Given the description of an element on the screen output the (x, y) to click on. 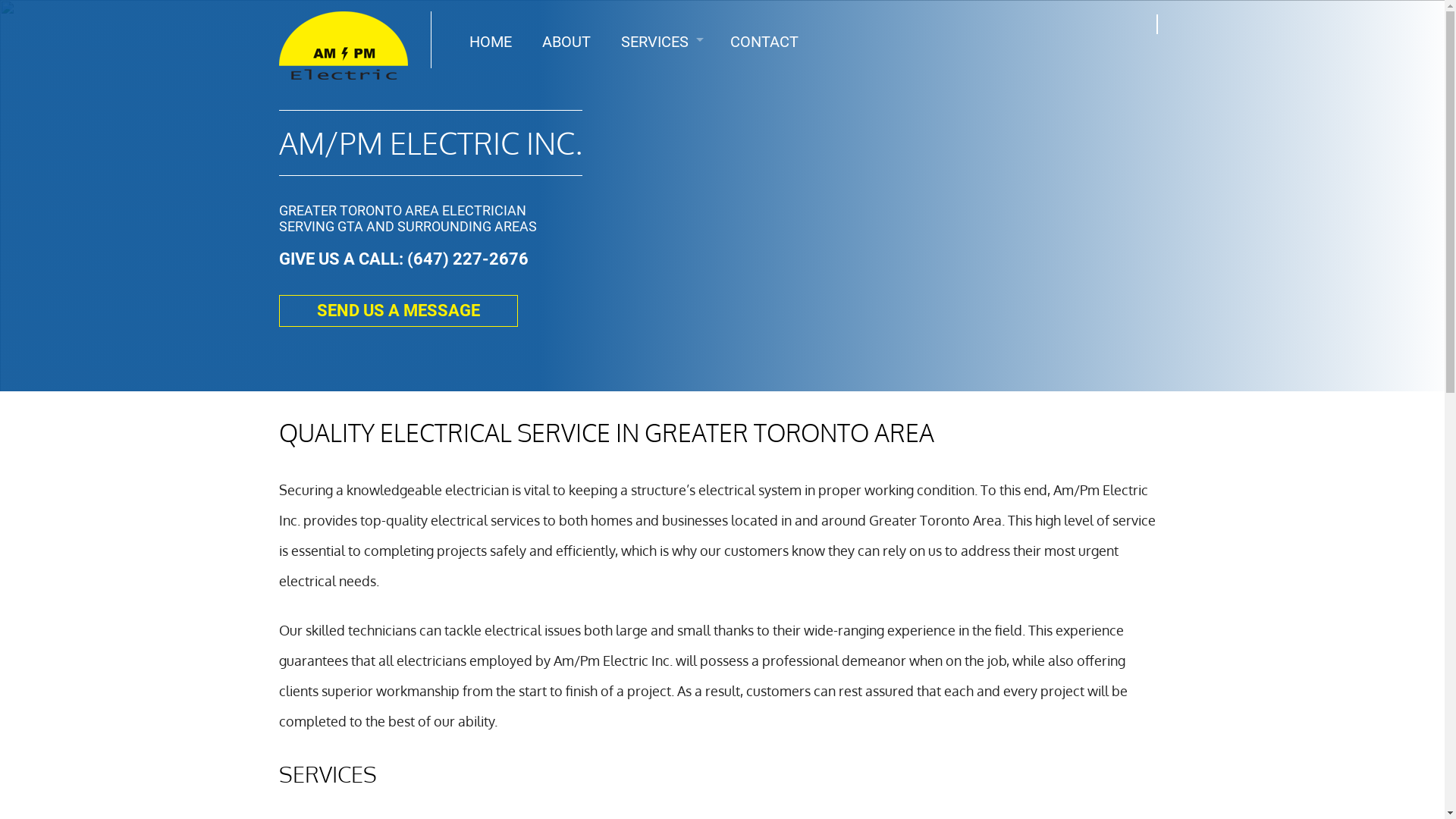
CONTACT Element type: text (764, 41)
Electrical Repair Element type: text (660, 162)
Data Communications Element type: text (660, 94)
AM/PM ELECTRIC INC. Element type: text (430, 142)
SERVICES Element type: text (660, 41)
Infrared inspections Element type: text (660, 117)
SEND US A MESSAGE Element type: text (398, 310)
Surge Protection Element type: text (660, 139)
Lighting Retrofits (Save on Energy Program) Element type: text (660, 185)
Solar Panels Element type: text (660, 208)
HOME Element type: text (490, 41)
Boom truck services Element type: text (660, 71)
ABOUT Element type: text (566, 41)
GIVE US A CALL: (647) 227-2676 Element type: text (403, 258)
